Given the description of an element on the screen output the (x, y) to click on. 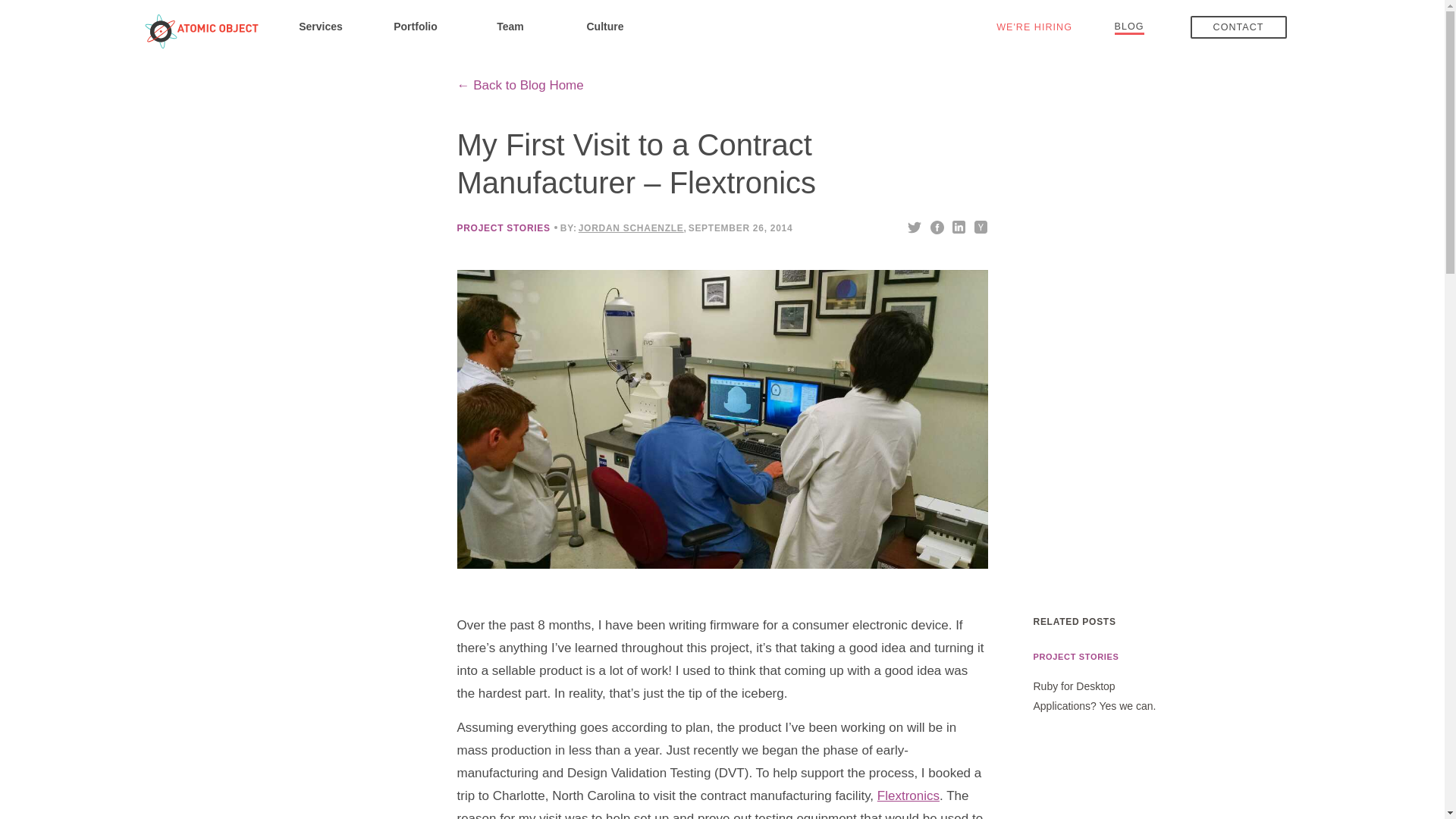
CONTACT (1239, 26)
HACKERNEWS (981, 226)
WE'RE HIRING (1033, 27)
BLOG (1129, 26)
Flextronics (908, 795)
JORDAN SCHAENZLE (631, 228)
LINKEDIN (957, 226)
Flextronics (908, 795)
FACEBOOK (936, 226)
Portfolio (415, 26)
Services (320, 26)
PROJECT STORIES (503, 227)
TWITTER (914, 226)
Team (510, 26)
Culture (605, 26)
